Given the description of an element on the screen output the (x, y) to click on. 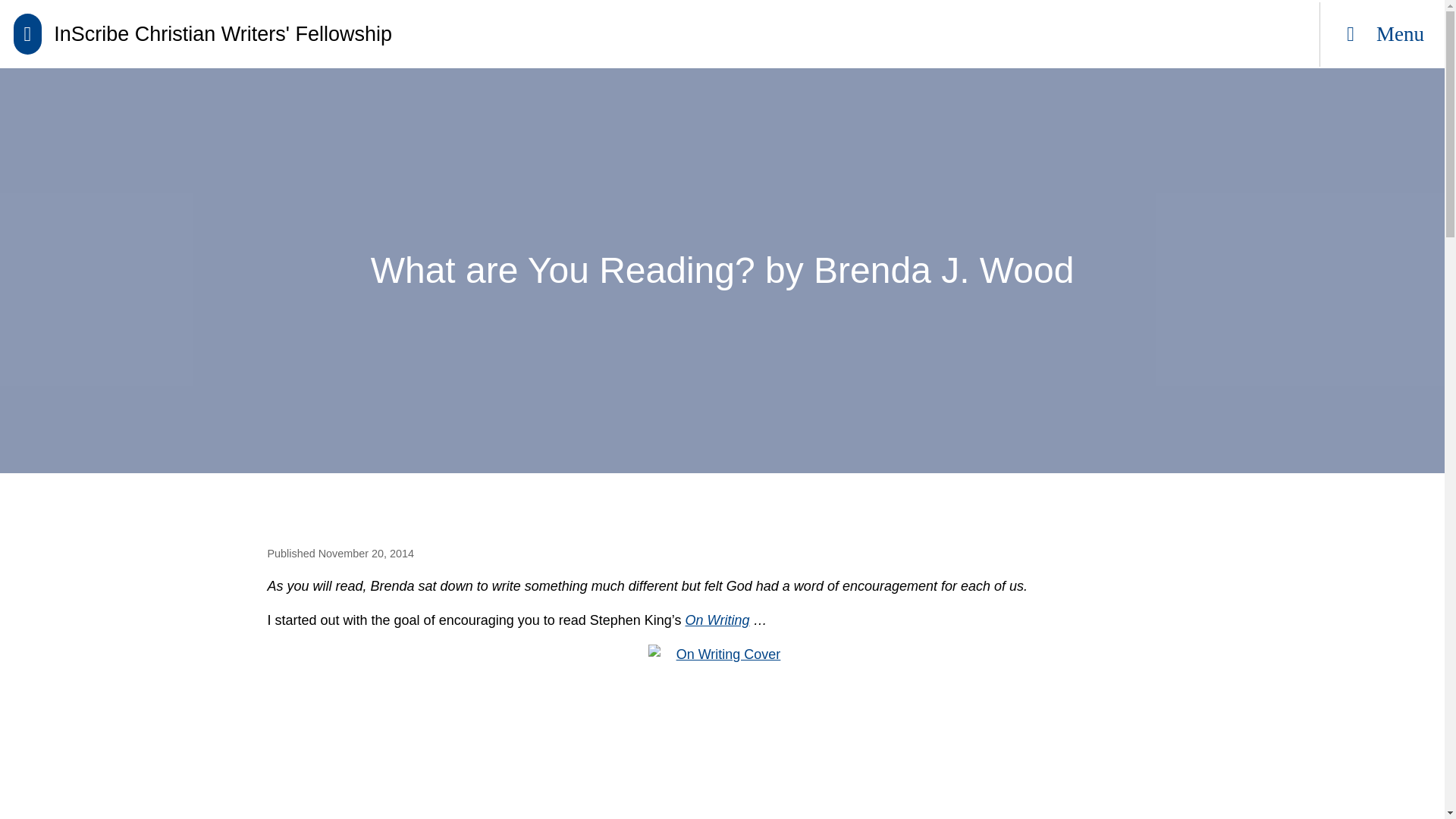
2014-11-20T01:00:20-0700 (365, 553)
On Writing (717, 620)
InScribe Christian Writers' Fellowship (202, 33)
